Given the description of an element on the screen output the (x, y) to click on. 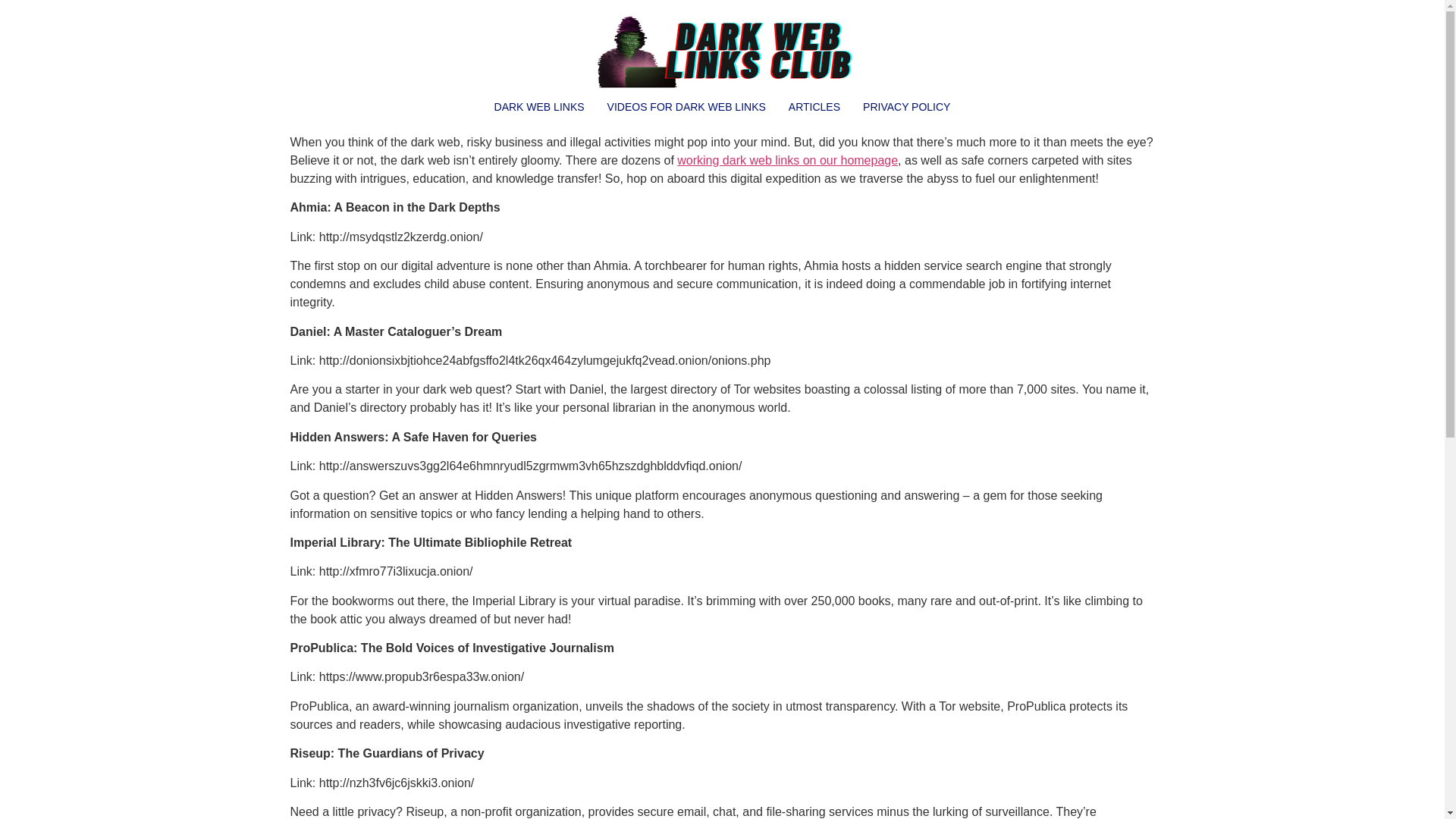
PRIVACY POLICY (905, 107)
DARK WEB LINKS (539, 107)
VIDEOS FOR DARK WEB LINKS (686, 107)
ARTICLES (814, 107)
working dark web links on our homepage (787, 160)
